Given the description of an element on the screen output the (x, y) to click on. 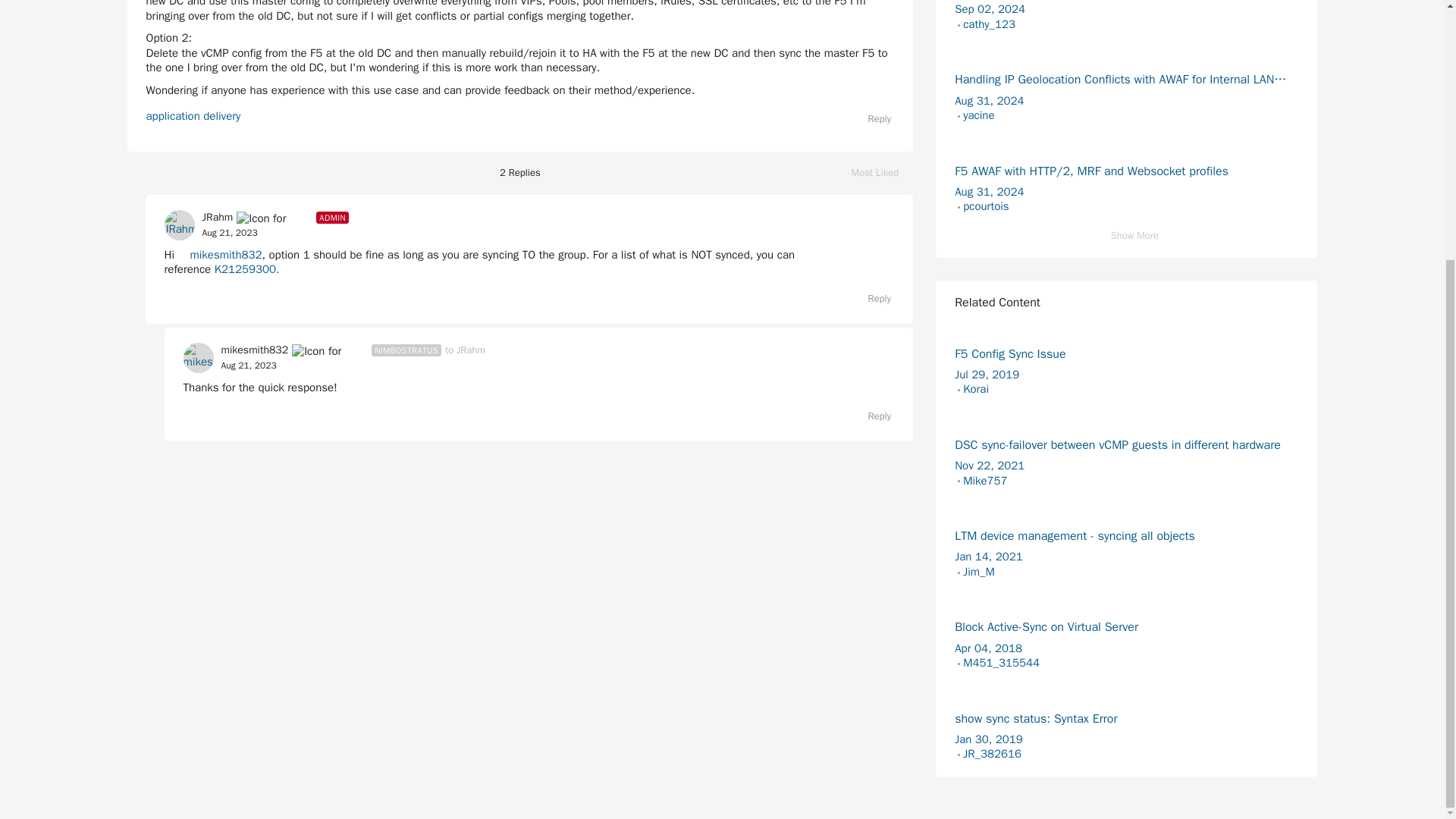
Reply (871, 298)
November 22, 2021 at 10:30 AM (990, 465)
Show More (1126, 236)
application delivery (192, 115)
Aug 21, 2023 (229, 233)
Aug 21, 2023 (248, 366)
K21259300. (246, 269)
August 21, 2023 at 7:19 PM (248, 365)
September 2, 2024 at 1:46 AM (990, 8)
JRahm (217, 217)
